Given the description of an element on the screen output the (x, y) to click on. 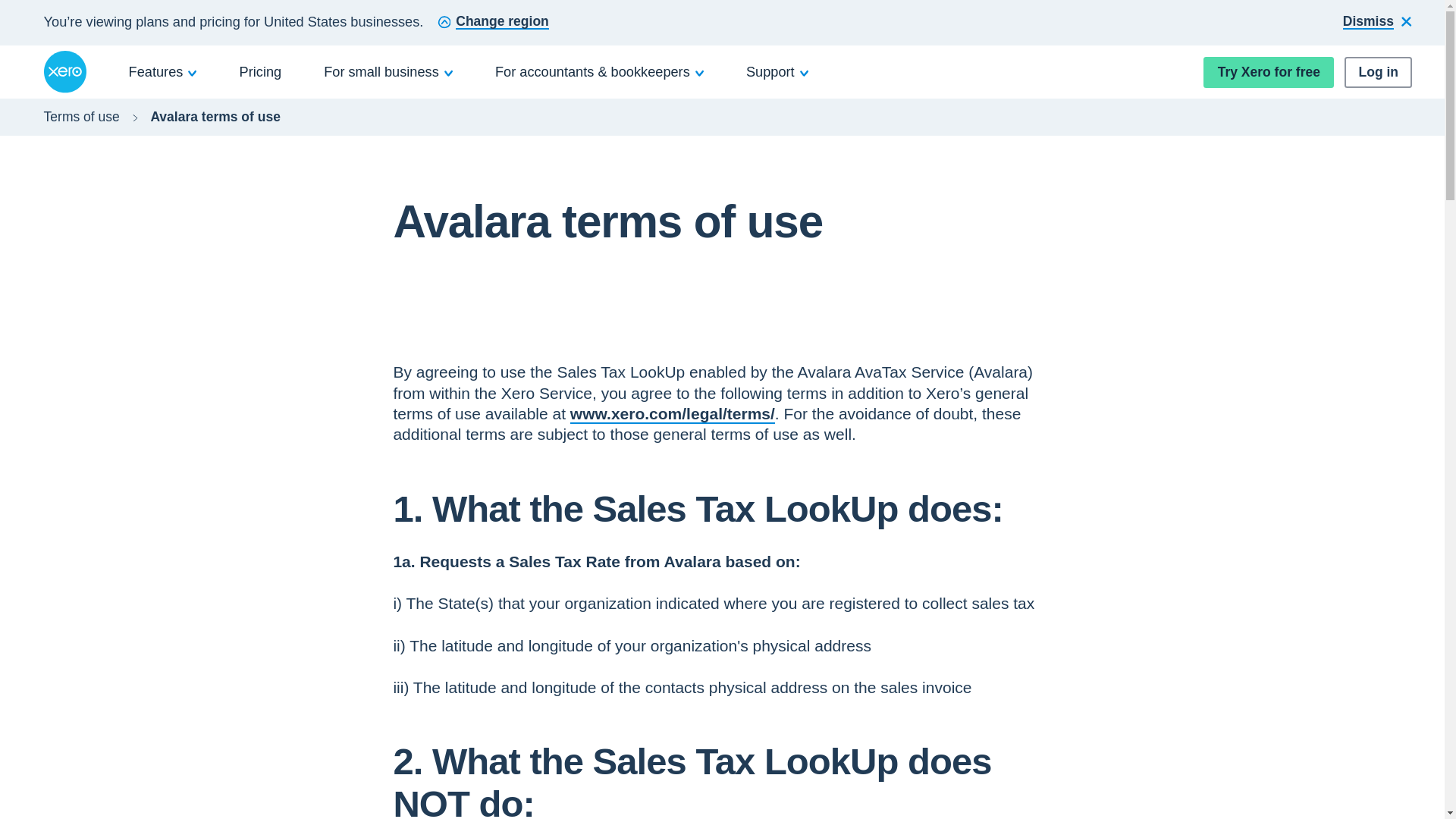
Support (777, 71)
Change region (493, 23)
Features (162, 71)
Try Xero for free (1268, 71)
Dismiss (1377, 23)
Log in (1377, 71)
Avalara terms of use (215, 116)
Terms of use (81, 116)
Pricing (260, 71)
For small business (388, 71)
